Given the description of an element on the screen output the (x, y) to click on. 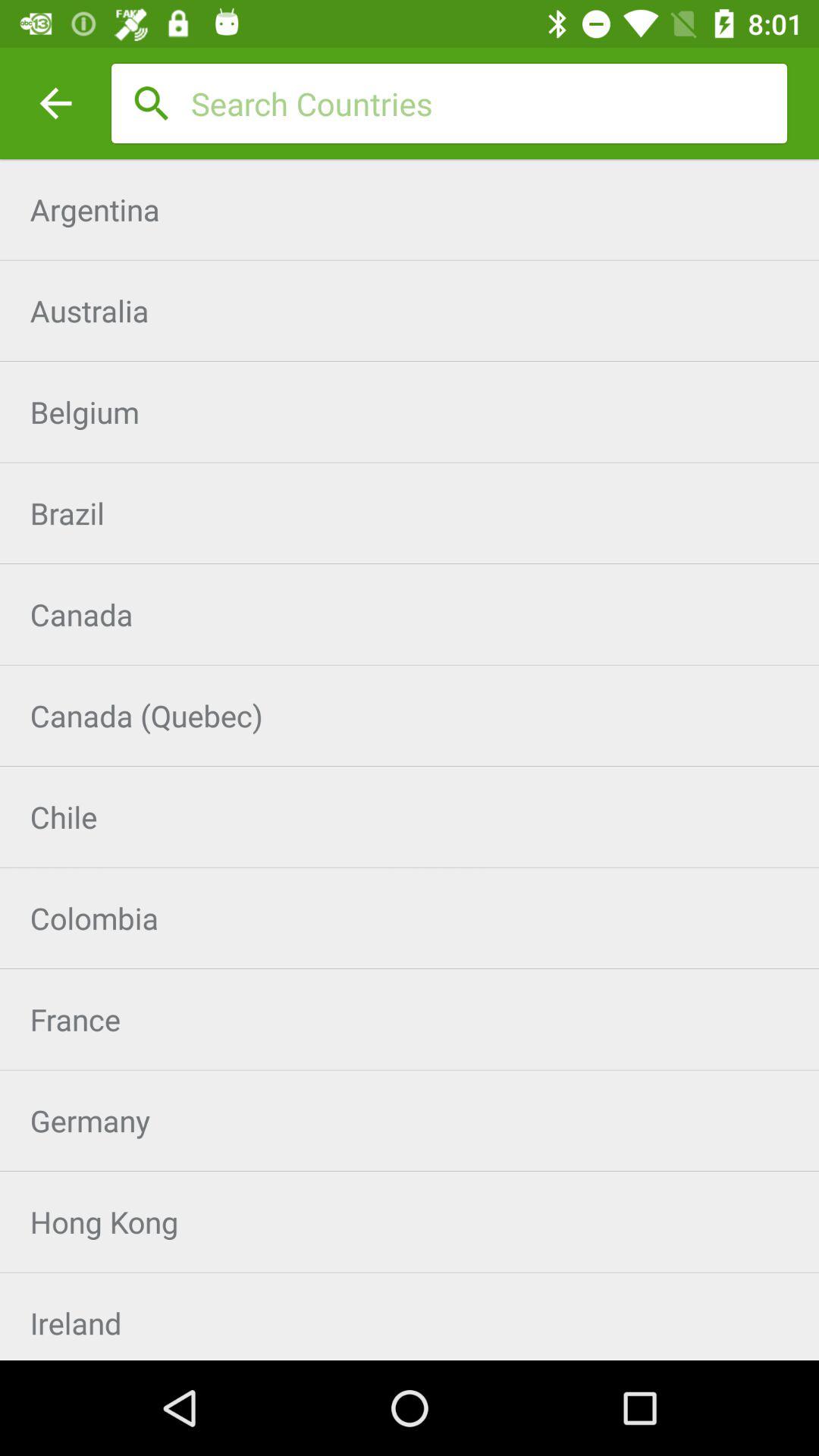
tap the item below argentina (409, 310)
